Given the description of an element on the screen output the (x, y) to click on. 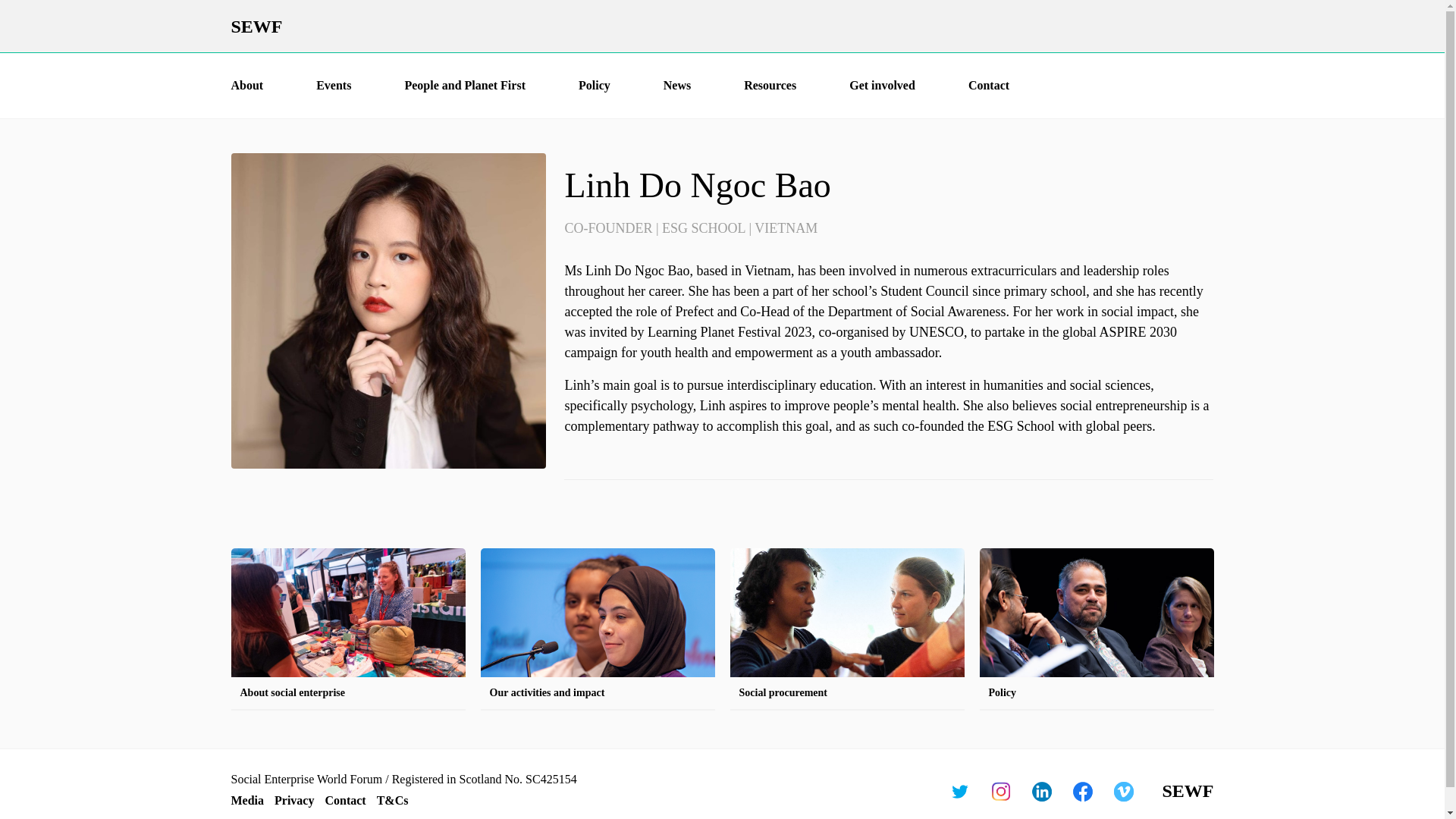
Our activities and impact (597, 628)
About social enterprise (347, 628)
People and Planet First (464, 85)
Get involved (881, 85)
SEWF (721, 26)
Media (246, 799)
Social procurement (846, 628)
Policy (1096, 628)
